Given the description of an element on the screen output the (x, y) to click on. 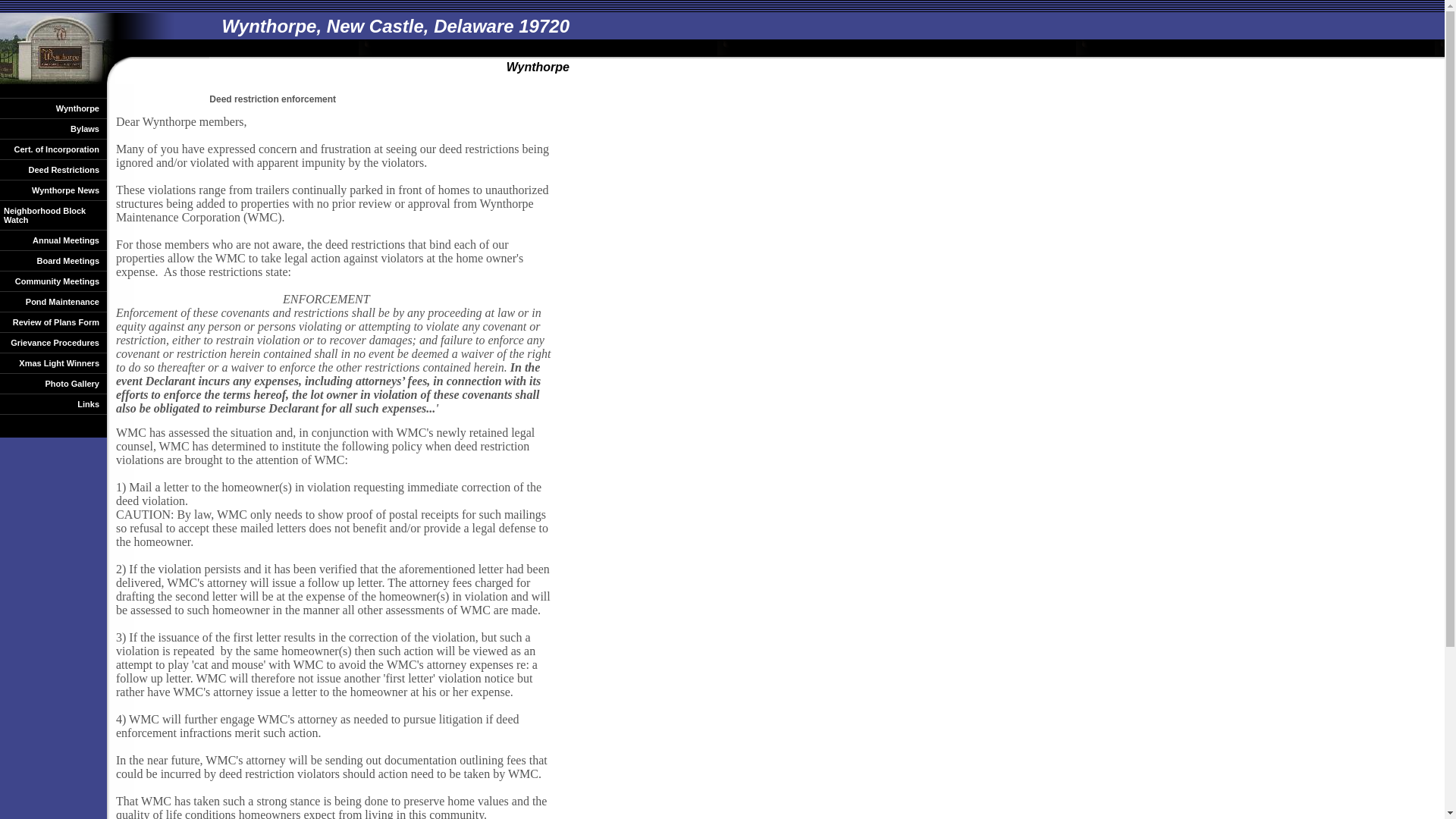
Wynthorpe News (53, 190)
Wynthorpe (53, 108)
Deed Restrictions (53, 169)
Neighborhood Block Watch (53, 215)
Bylaws (53, 128)
Annual Meetings (53, 240)
Cert. of Incorporation (53, 149)
